Given the description of an element on the screen output the (x, y) to click on. 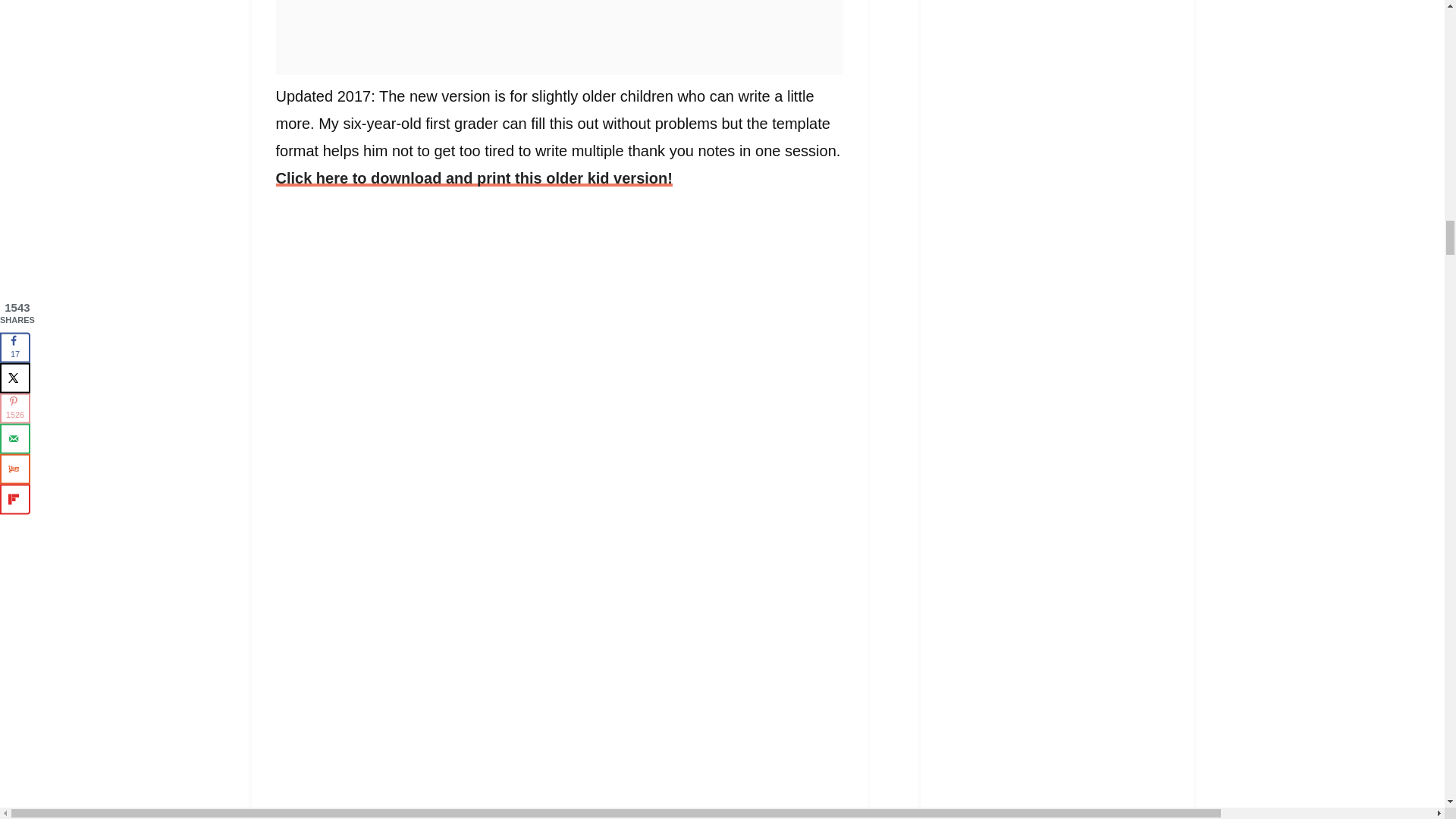
Click here to download and print this older kid version! (474, 177)
